Given the description of an element on the screen output the (x, y) to click on. 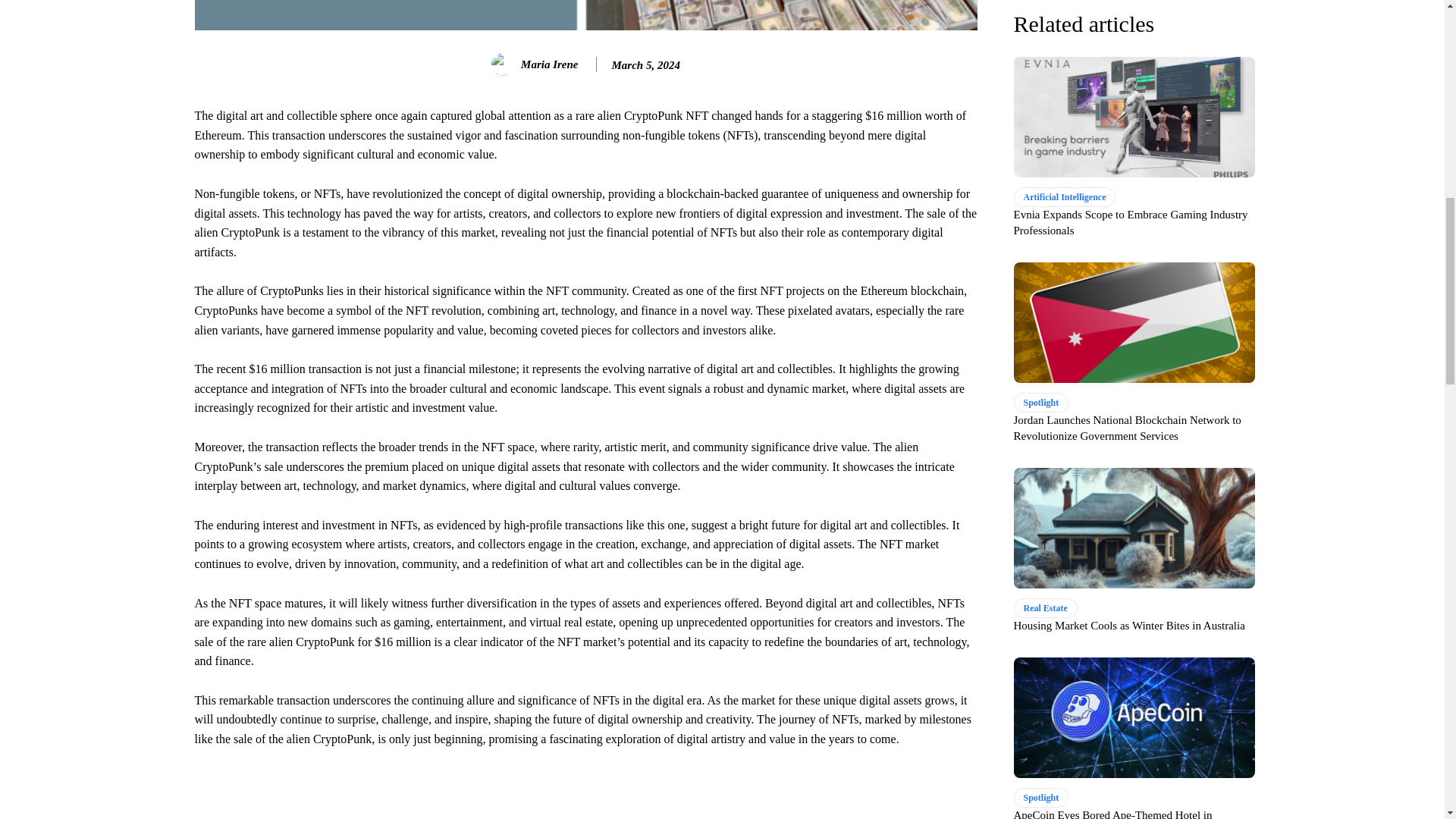
Maria Irene (505, 64)
